Given the description of an element on the screen output the (x, y) to click on. 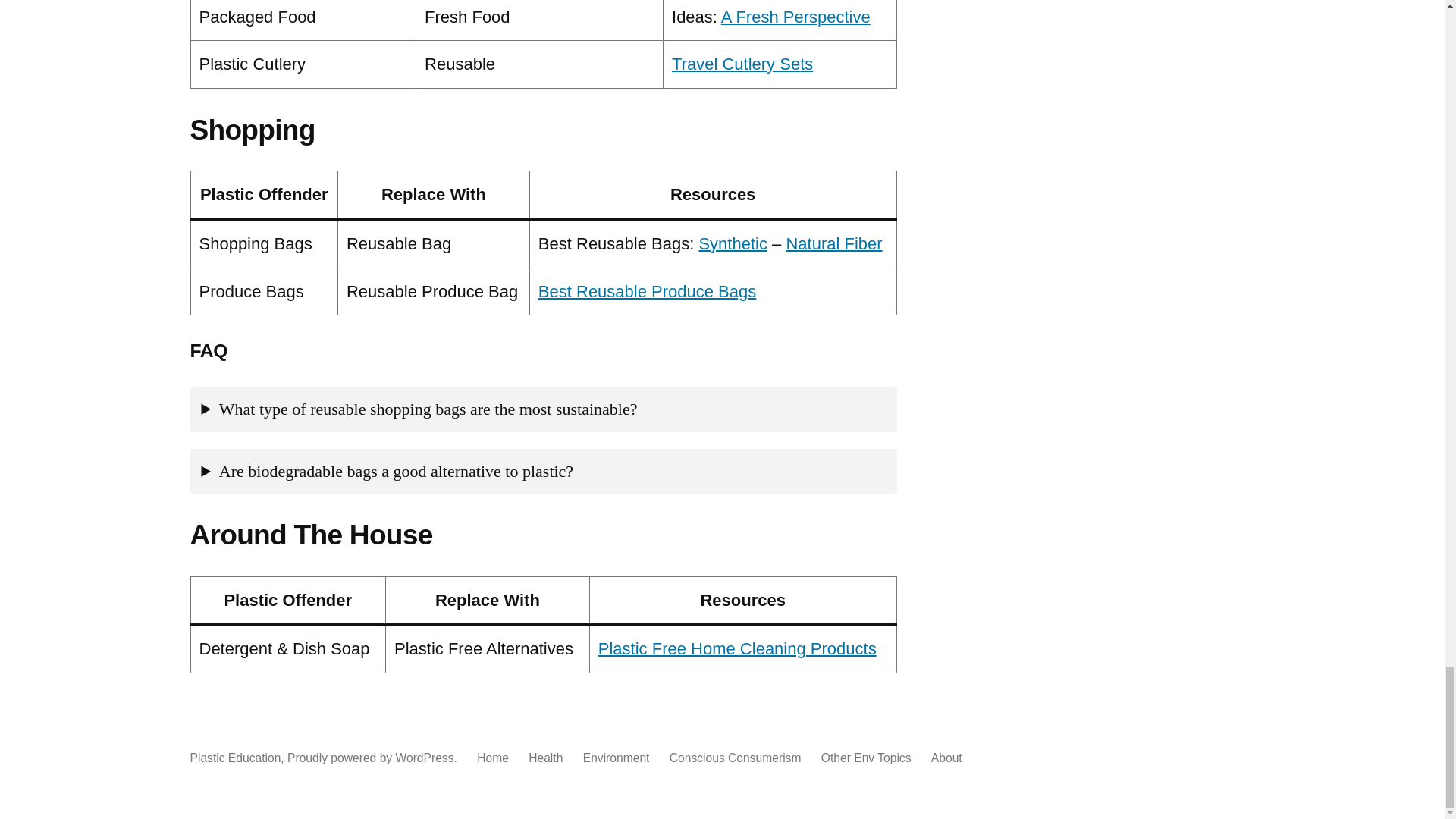
Travel Cutlery Sets (741, 63)
Proudly powered by WordPress. (373, 757)
Other Env Topics (866, 757)
Natural Fiber (834, 243)
About (946, 757)
Plastic Free Home Cleaning Products (737, 648)
A Fresh Perspective (795, 16)
Conscious Consumerism (735, 757)
Health (545, 757)
Home (492, 757)
